Given the description of an element on the screen output the (x, y) to click on. 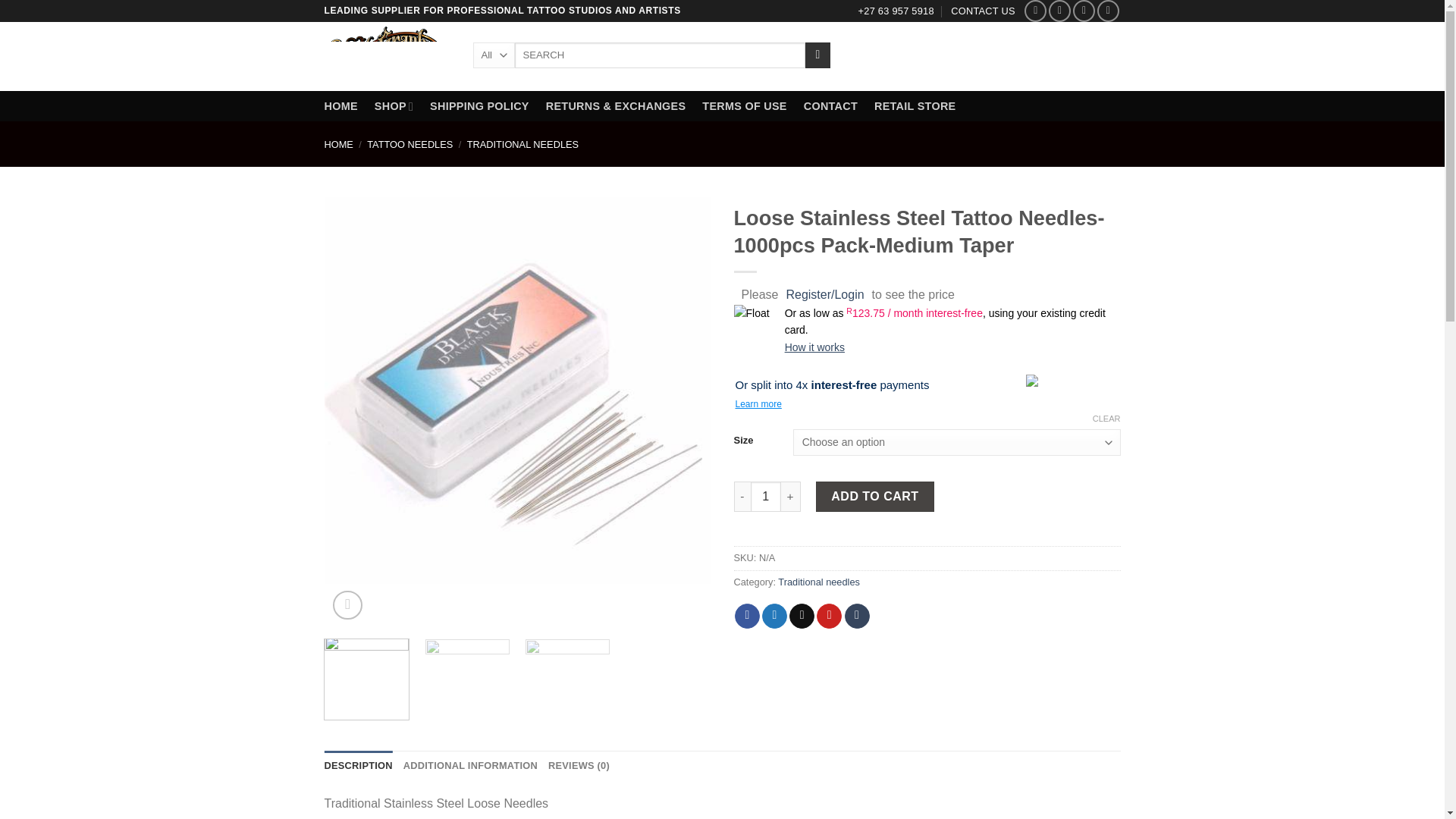
1 (765, 496)
Qty (765, 496)
CONTACT US (982, 11)
TERMS OF USE (743, 105)
Cart (1090, 55)
Zoom (347, 604)
SHOP (393, 105)
SHIPPING POLICY (479, 105)
Send us an email (1083, 11)
TRADITIONAL NEEDLES (522, 143)
